Given the description of an element on the screen output the (x, y) to click on. 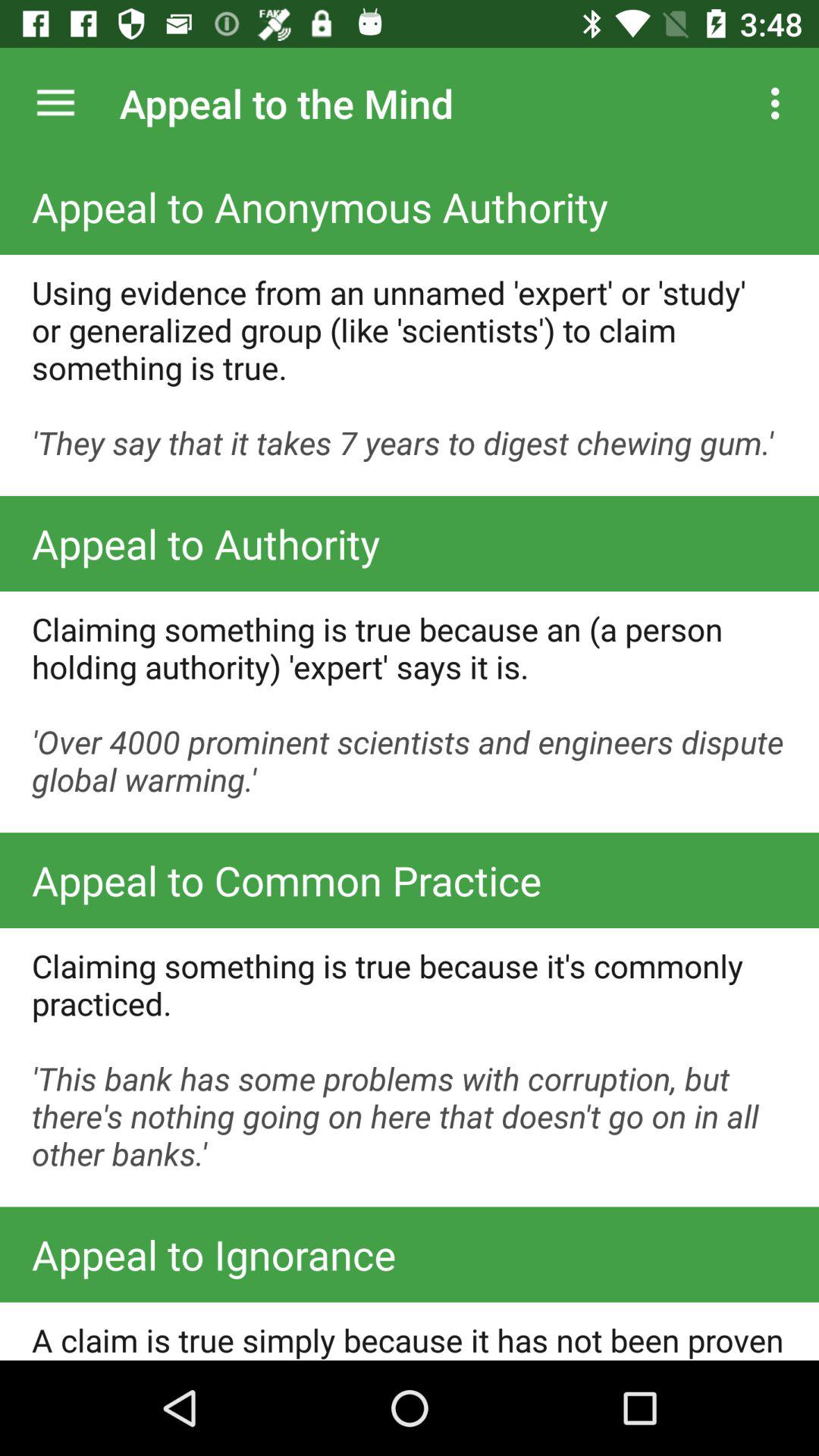
open app to the left of appeal to the icon (55, 103)
